Given the description of an element on the screen output the (x, y) to click on. 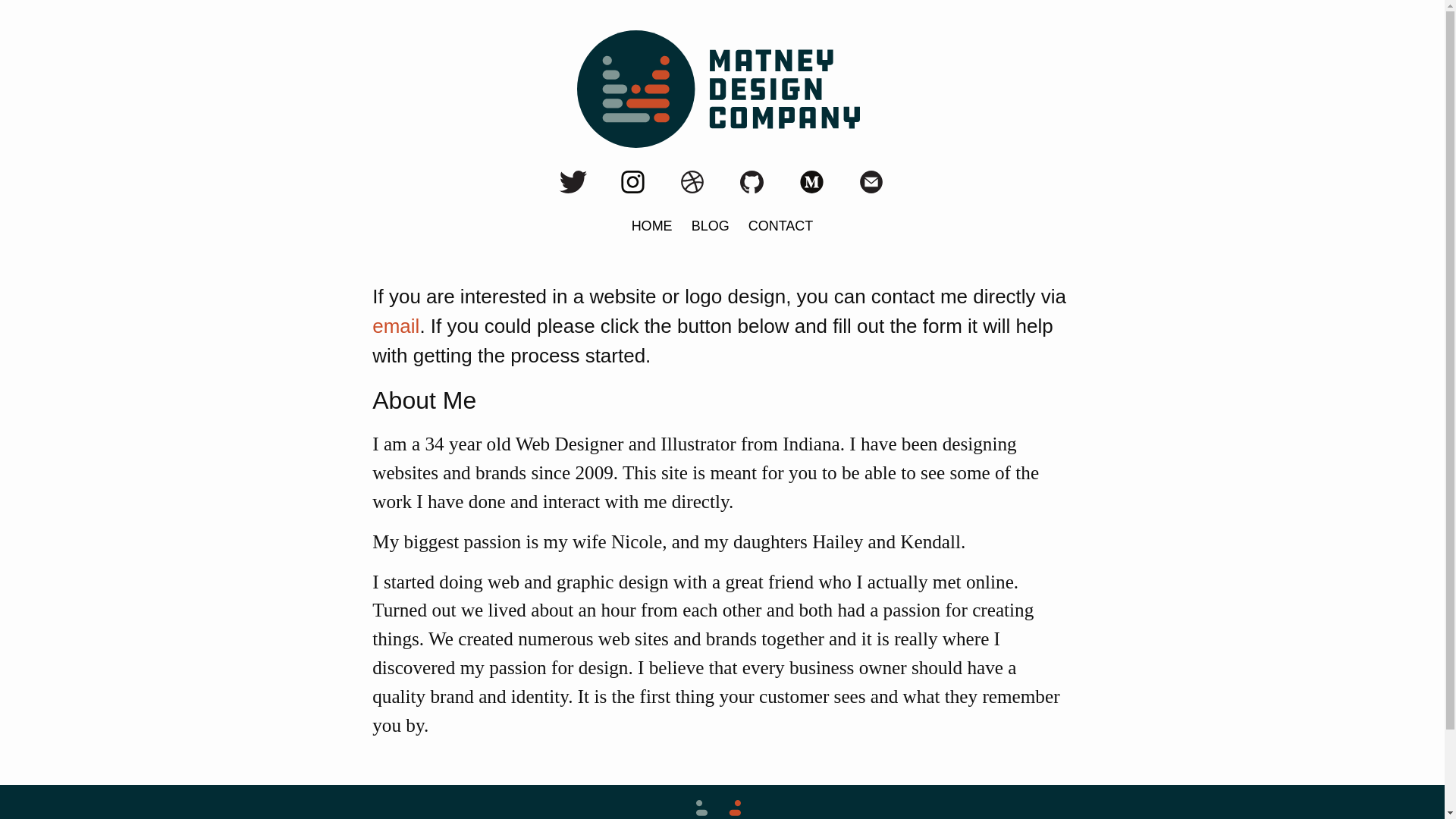
email (395, 325)
CONTACT (780, 225)
BLOG (710, 225)
HOME (651, 225)
